Given the description of an element on the screen output the (x, y) to click on. 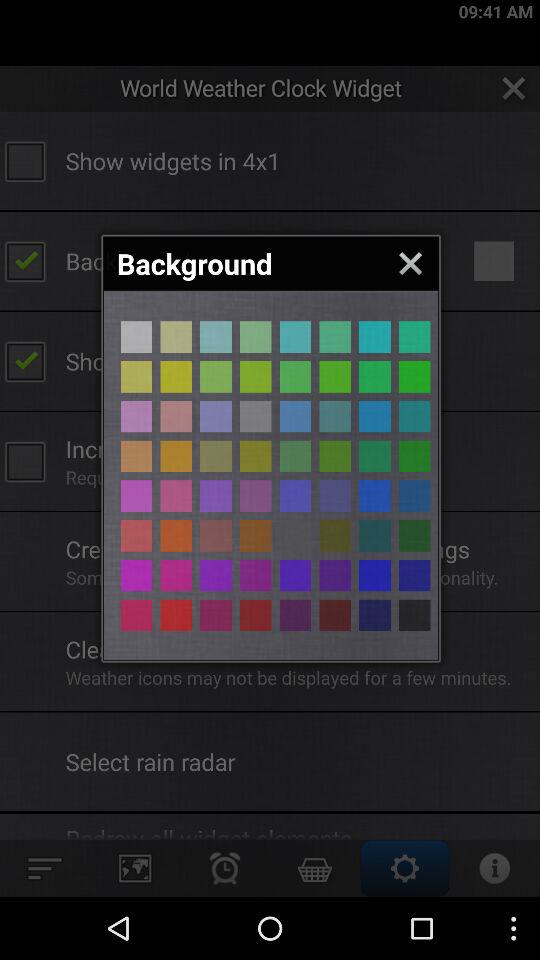
khaki background (335, 376)
